Given the description of an element on the screen output the (x, y) to click on. 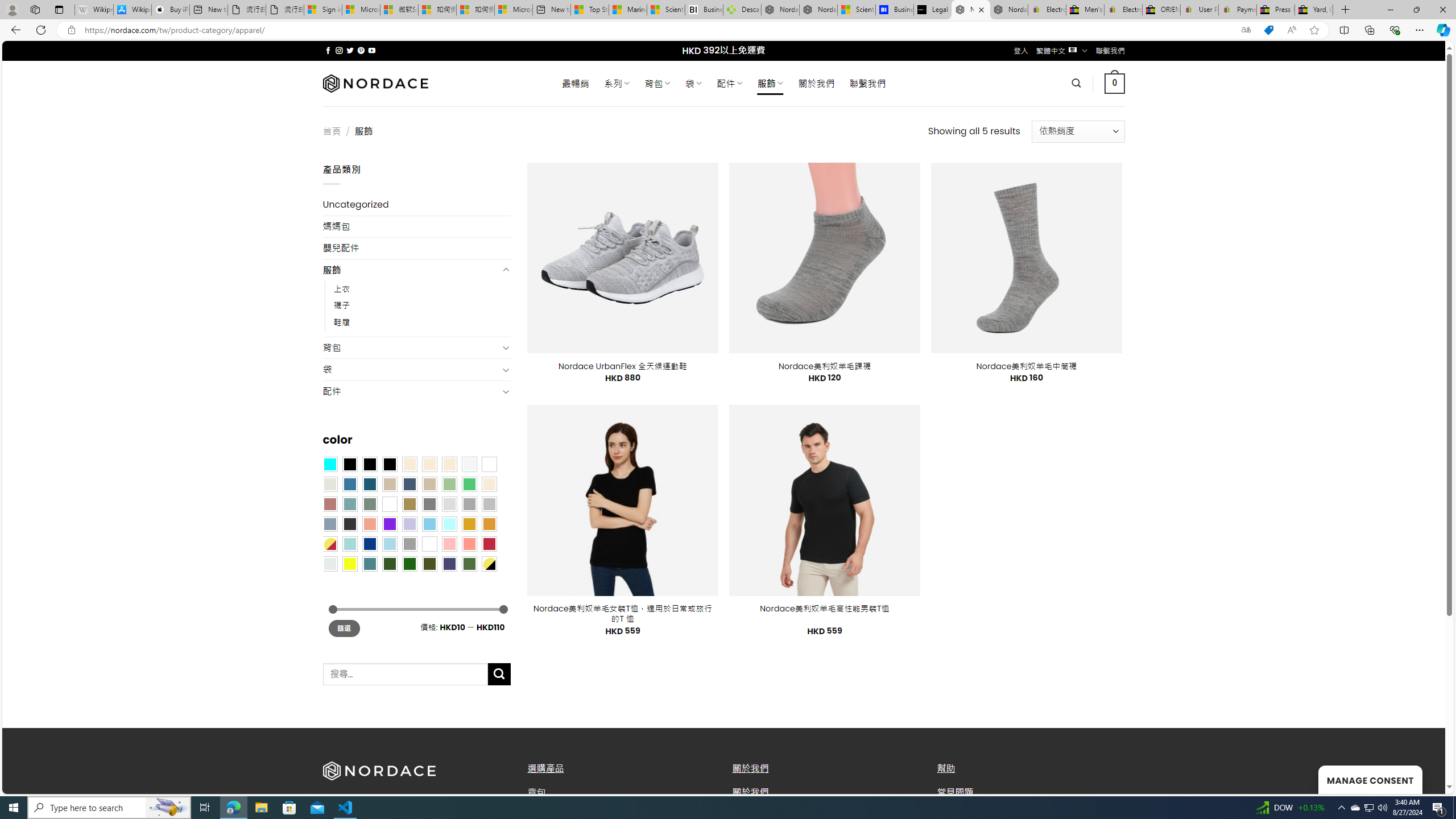
Show translate options (1245, 29)
Buy iPad - Apple (171, 9)
MANAGE CONSENT (1369, 779)
